Given the description of an element on the screen output the (x, y) to click on. 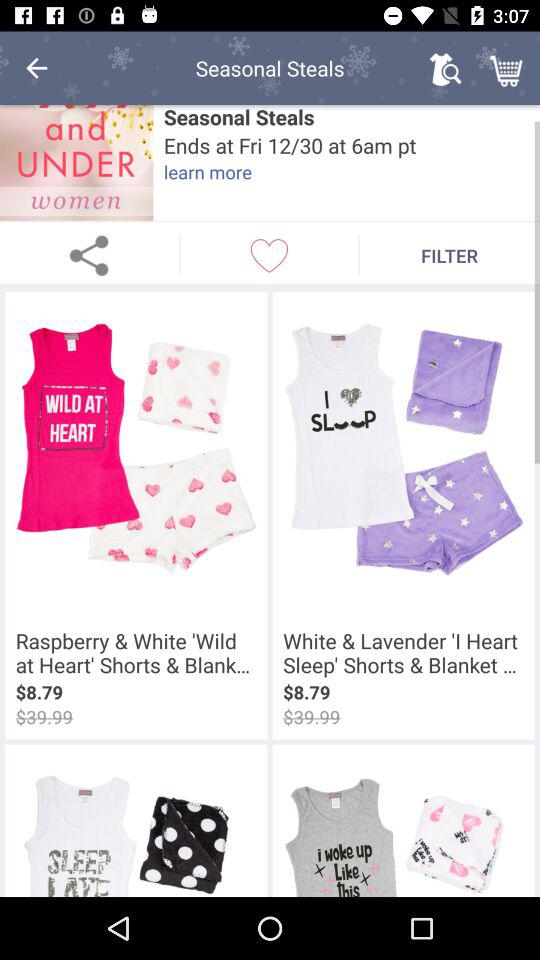
tap the icon above seasonal steals item (508, 67)
